Given the description of an element on the screen output the (x, y) to click on. 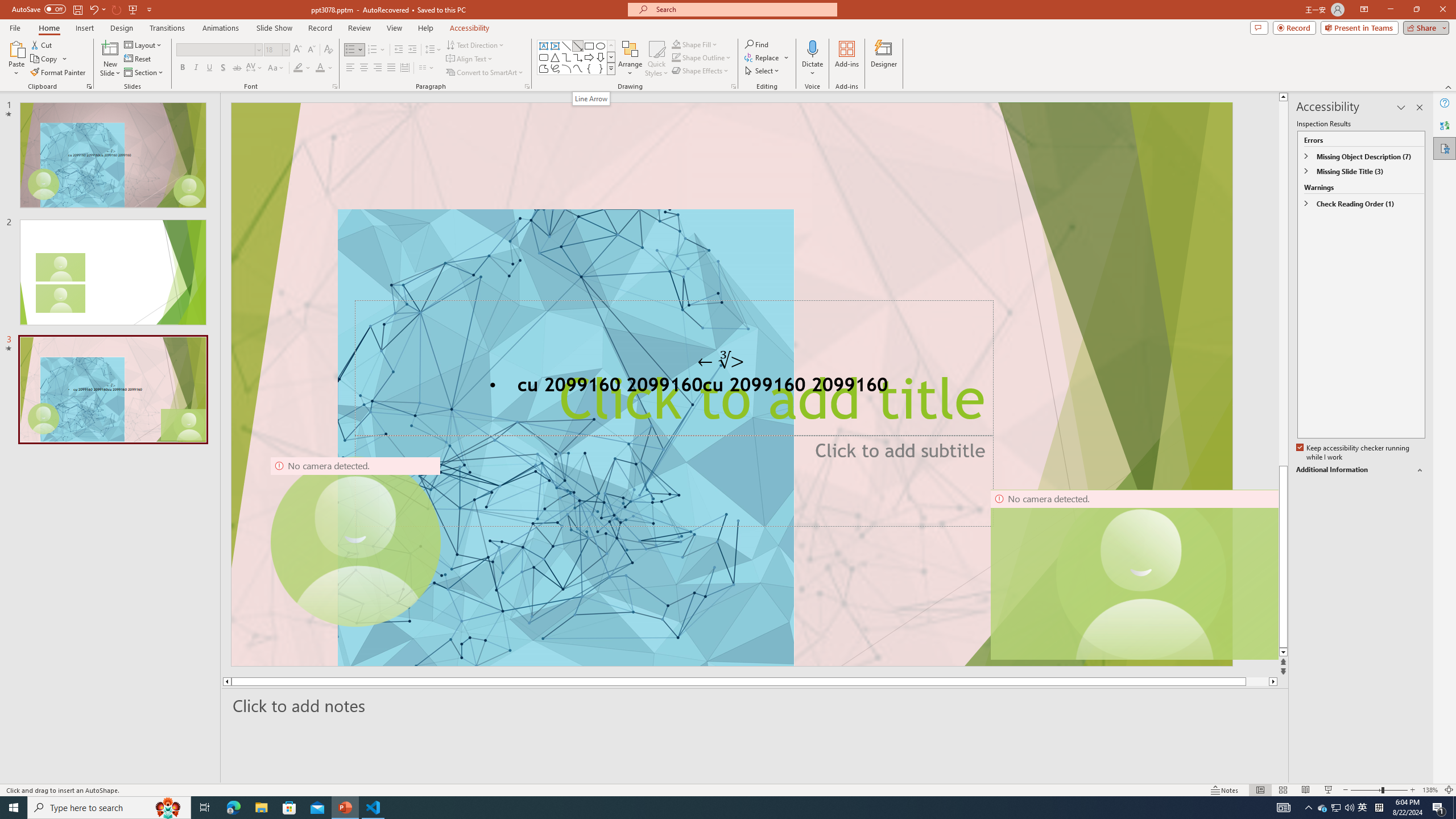
Subtitle TextBox (673, 480)
Increase Indent (412, 49)
